Given the description of an element on the screen output the (x, y) to click on. 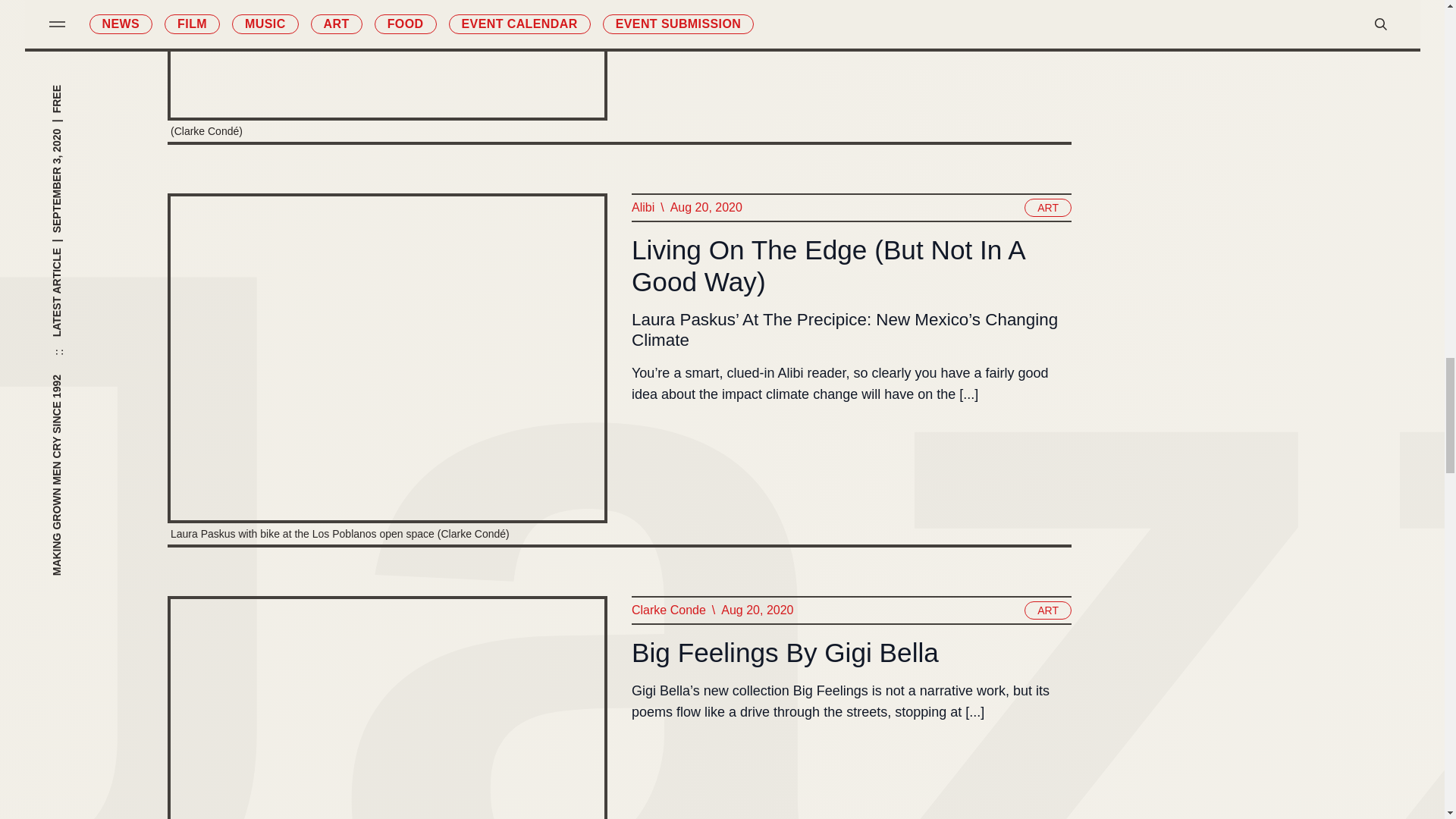
Alibi (641, 207)
ART (1048, 208)
